Given the description of an element on the screen output the (x, y) to click on. 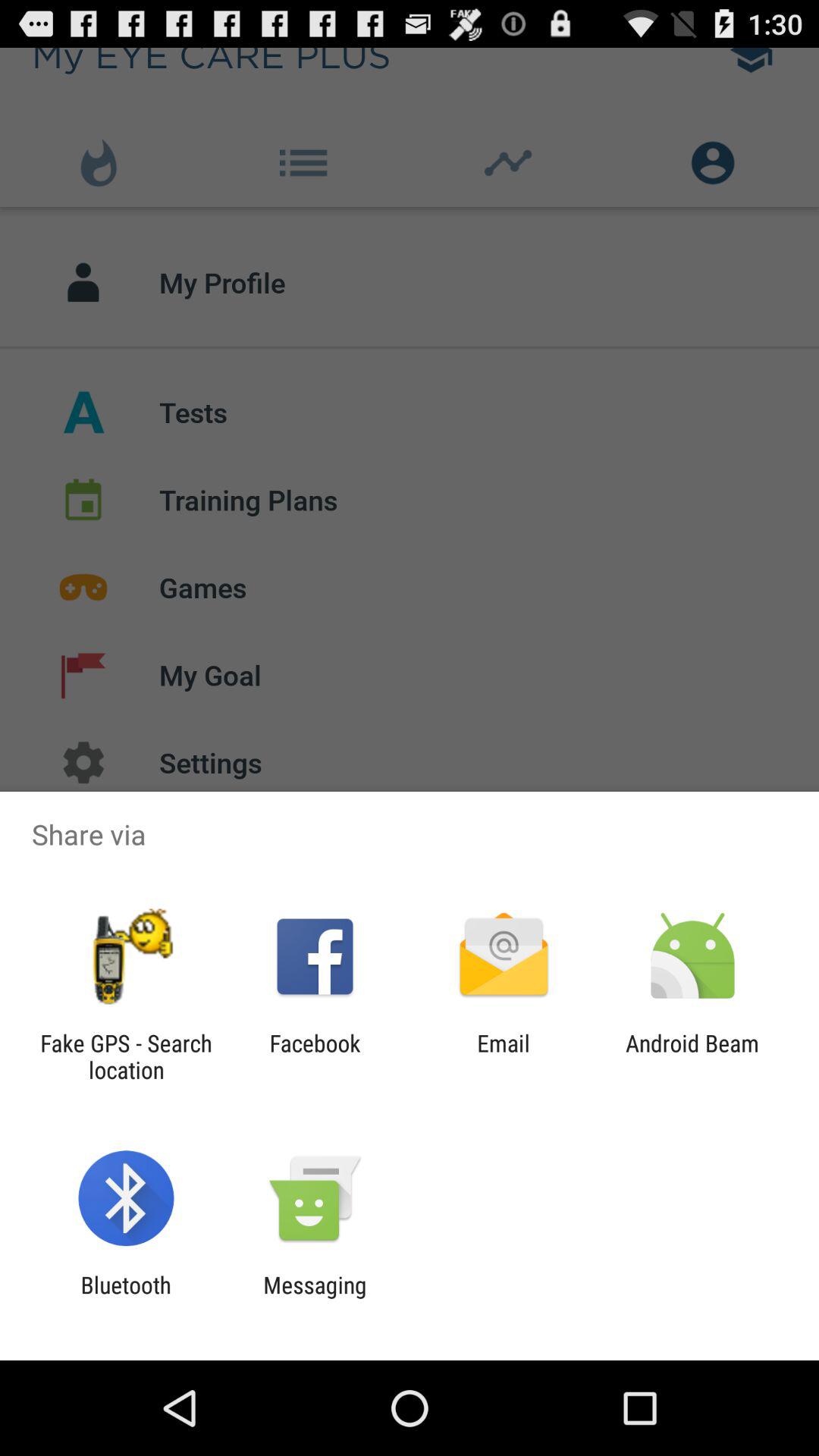
launch item to the left of facebook app (125, 1056)
